Given the description of an element on the screen output the (x, y) to click on. 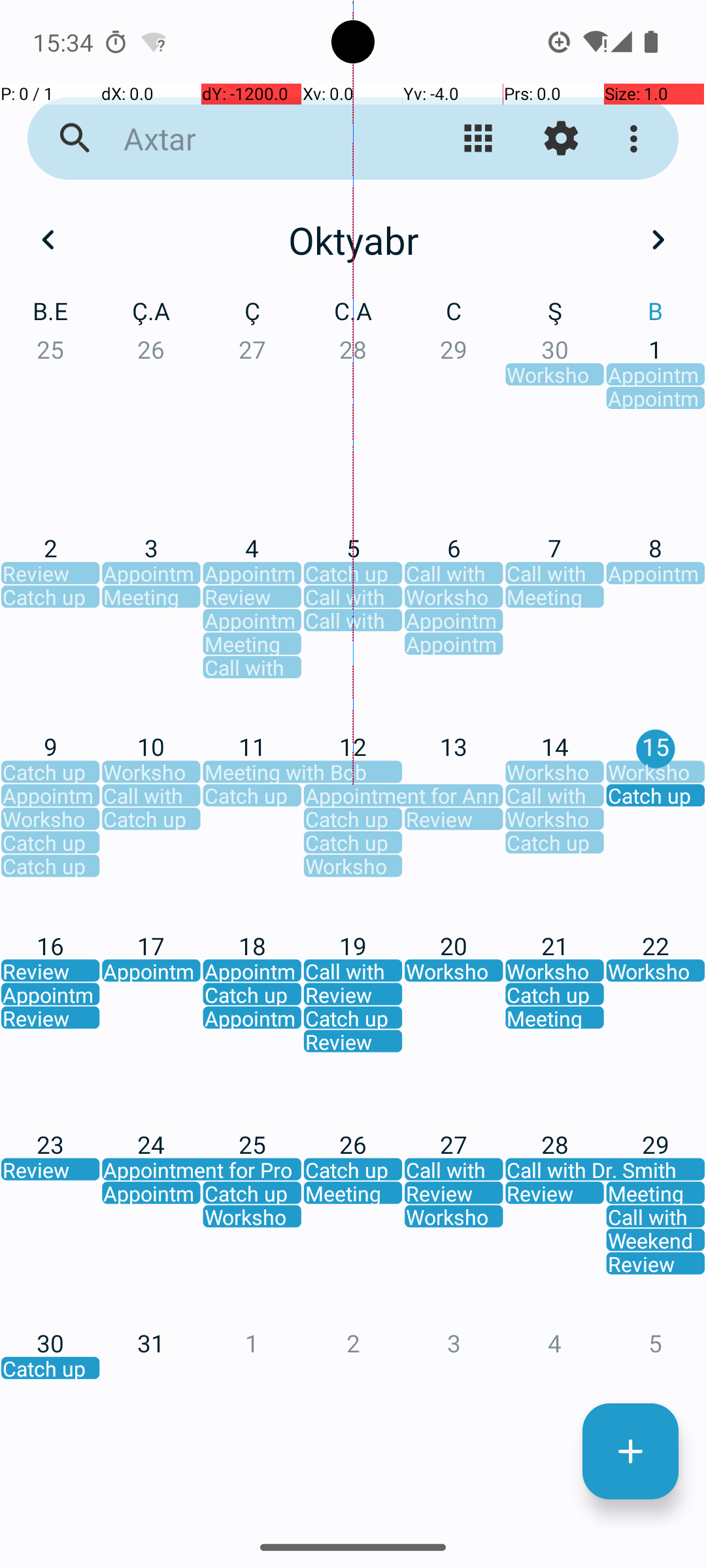
Axtar Element type: android.widget.EditText (252, 138)
Görünüşü dəyiş Element type: android.widget.Button (477, 138)
Parametrlər Element type: android.widget.Button (560, 138)
Digər seçimlər Element type: android.widget.ImageView (636, 138)
Yeni Hadisə Element type: android.widget.ImageButton (630, 1451)
Oktyabr Element type: android.widget.TextView (352, 239)
